Given the description of an element on the screen output the (x, y) to click on. 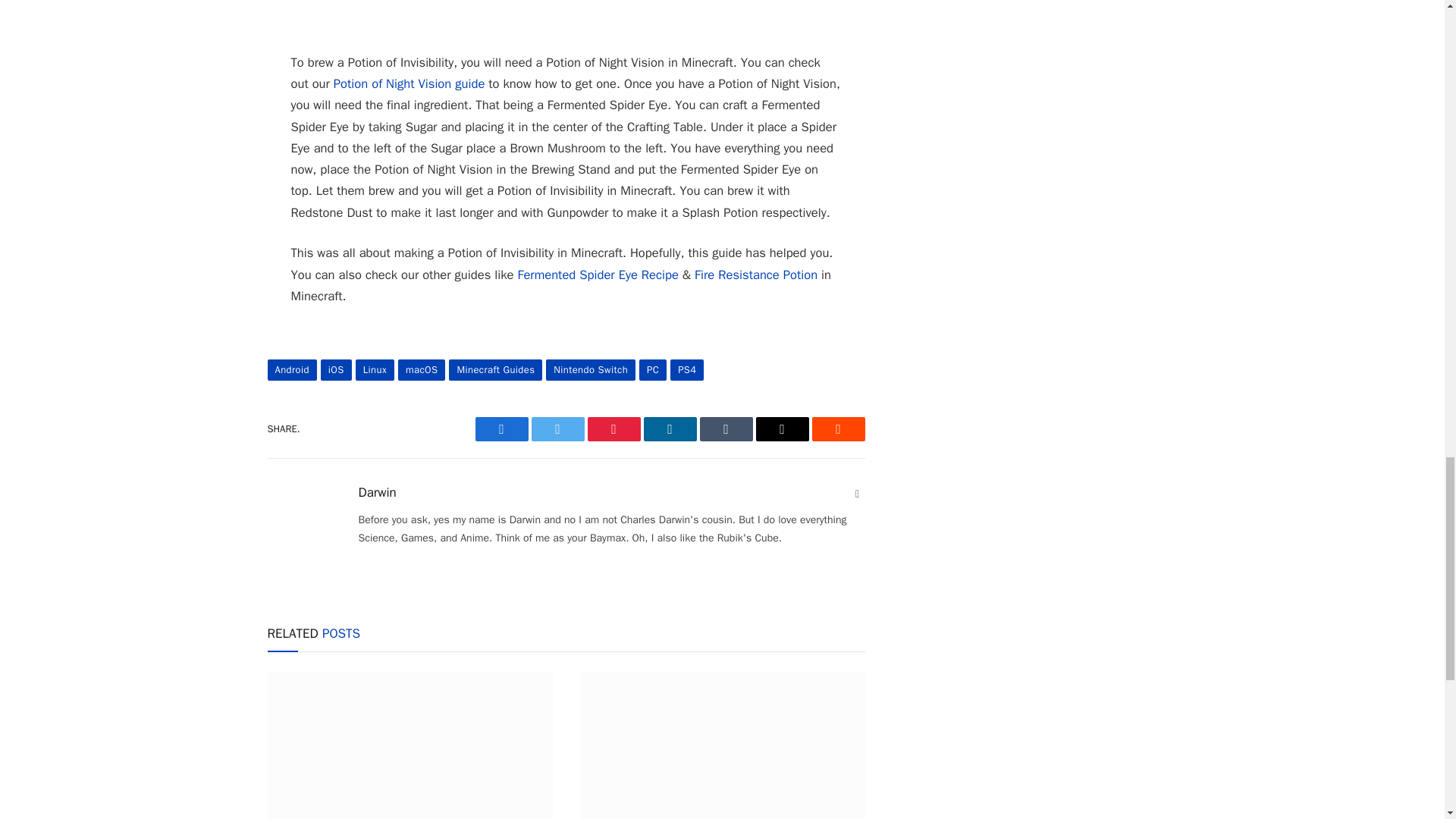
Potion of Night Vision guide (408, 83)
Share on Facebook (500, 428)
